Given the description of an element on the screen output the (x, y) to click on. 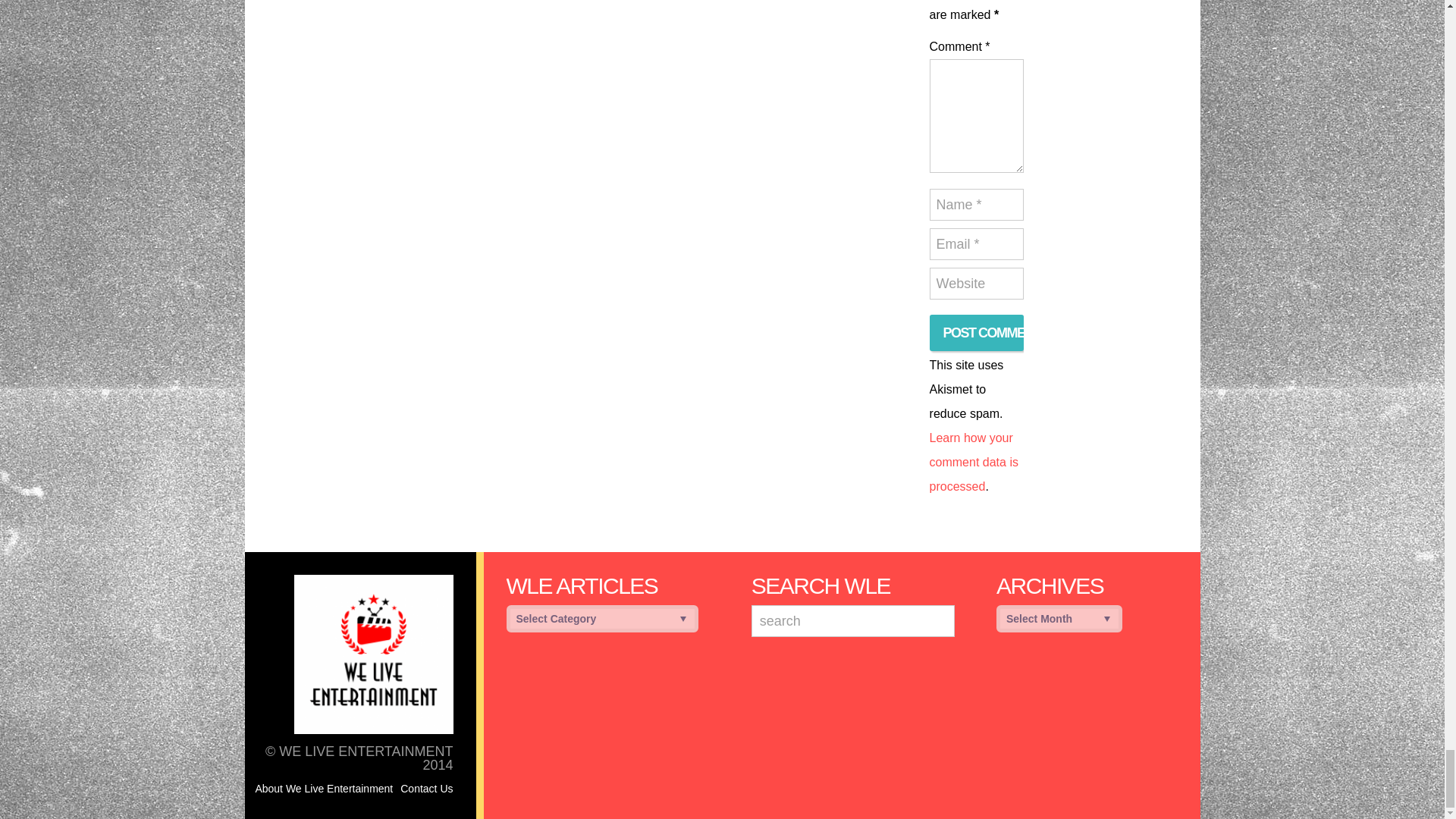
Post Comment (977, 332)
